Given the description of an element on the screen output the (x, y) to click on. 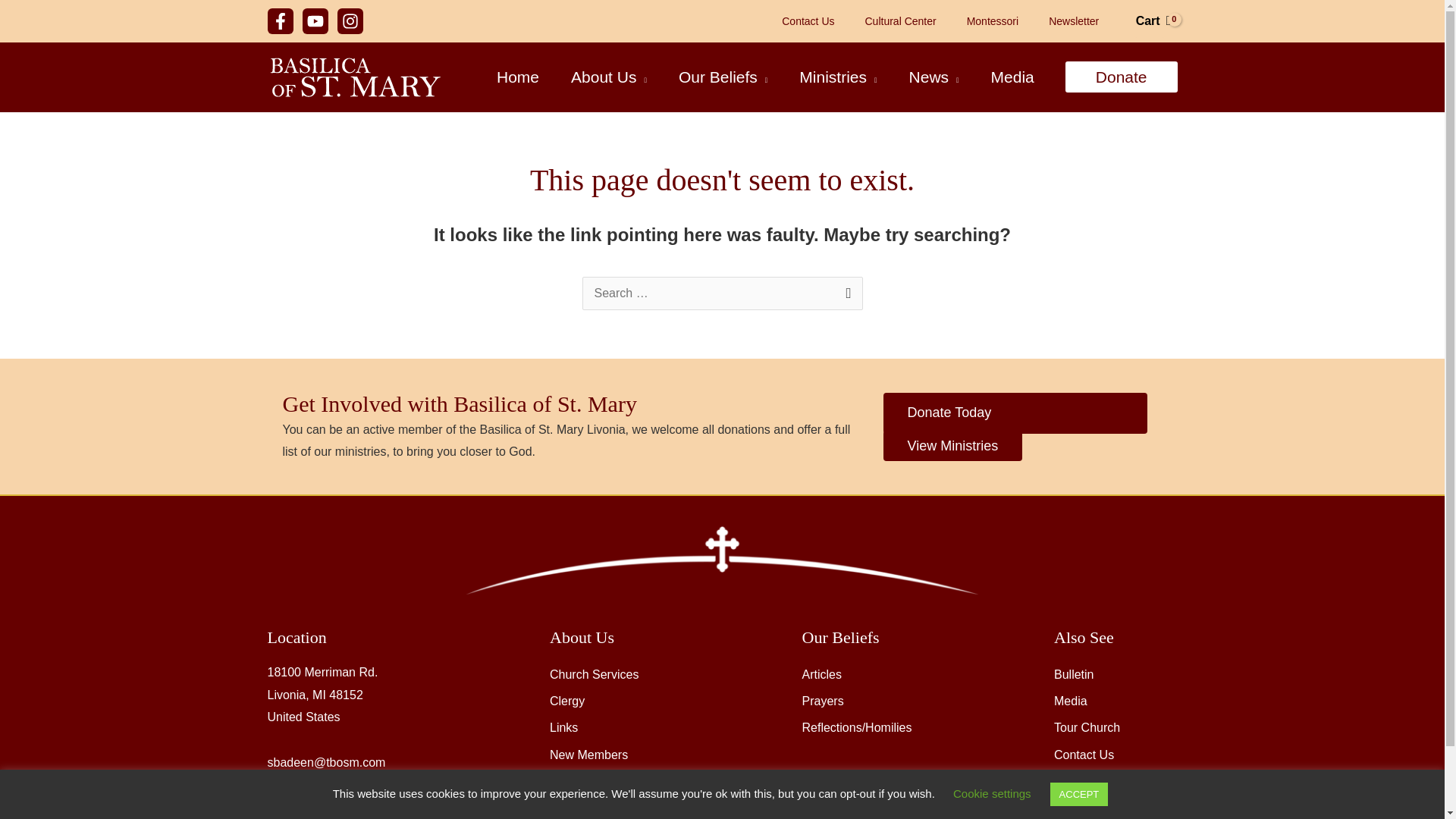
Cultural Center (899, 21)
Home (517, 77)
Cart (1152, 21)
Newsletter (1073, 21)
Contact Us (807, 21)
Search (844, 293)
About Us (608, 77)
Ministries (837, 77)
Our Beliefs (722, 77)
Montessori (992, 21)
